Given the description of an element on the screen output the (x, y) to click on. 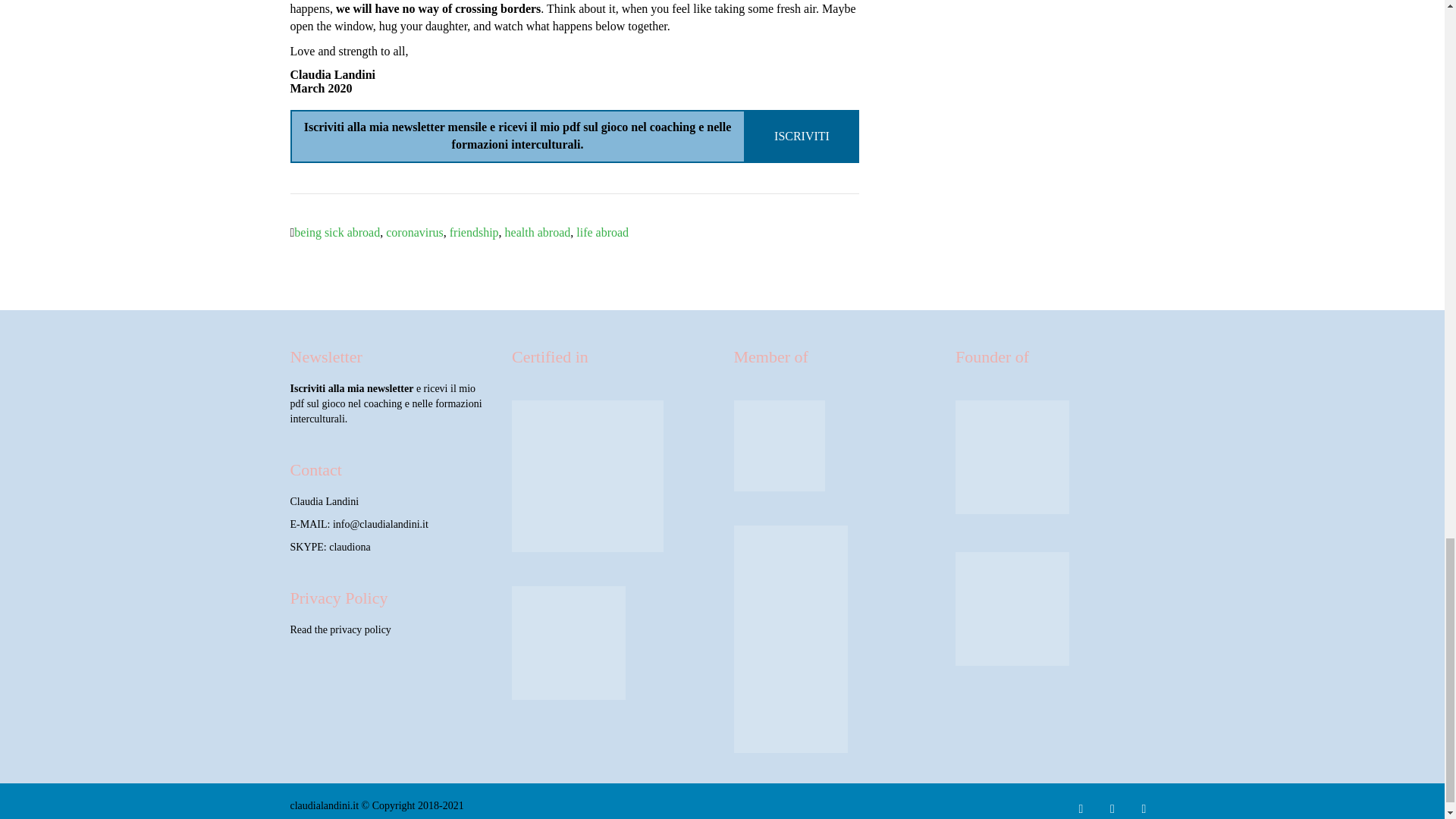
health abroad (537, 232)
friendship (474, 232)
being sick abroad (337, 232)
Iscriviti alla mia newsletter (351, 388)
ISCRIVITI (801, 135)
coronavirus (414, 232)
life abroad (602, 232)
